Given the description of an element on the screen output the (x, y) to click on. 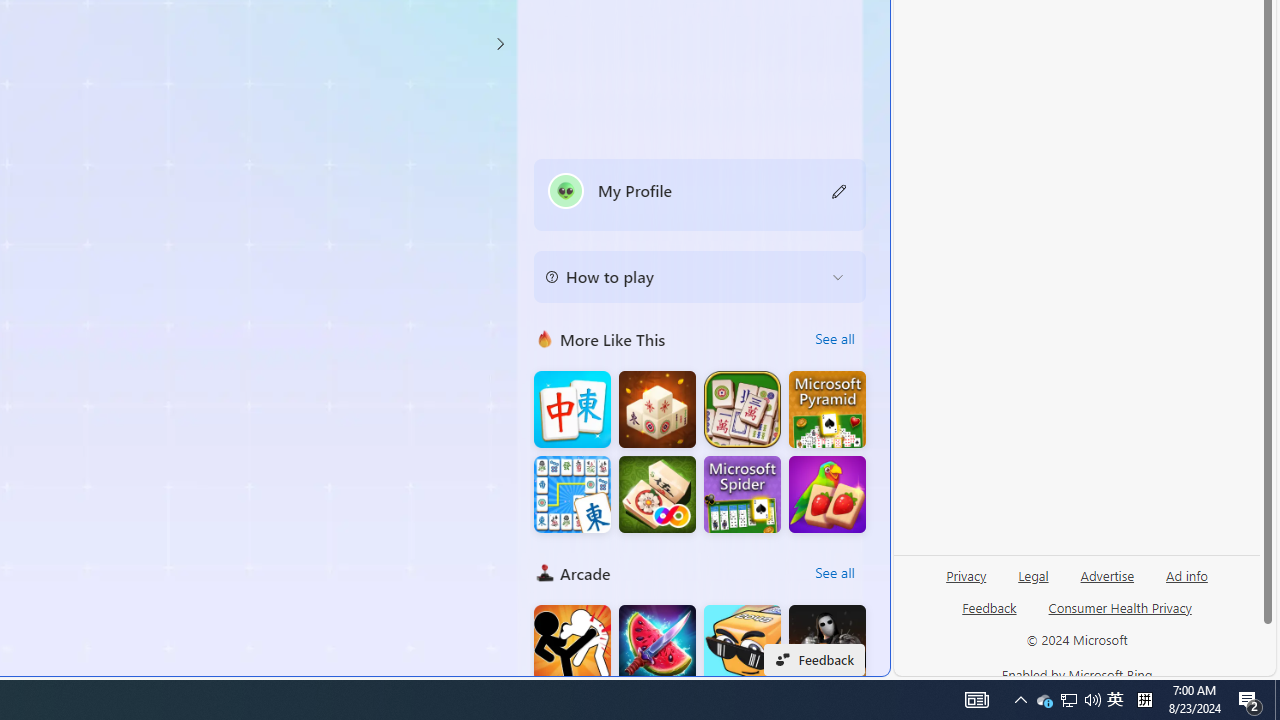
Solitaire Mahjong Juicy (827, 494)
Class: control (499, 43)
Mahjong 3D Connect (657, 409)
